Given the description of an element on the screen output the (x, y) to click on. 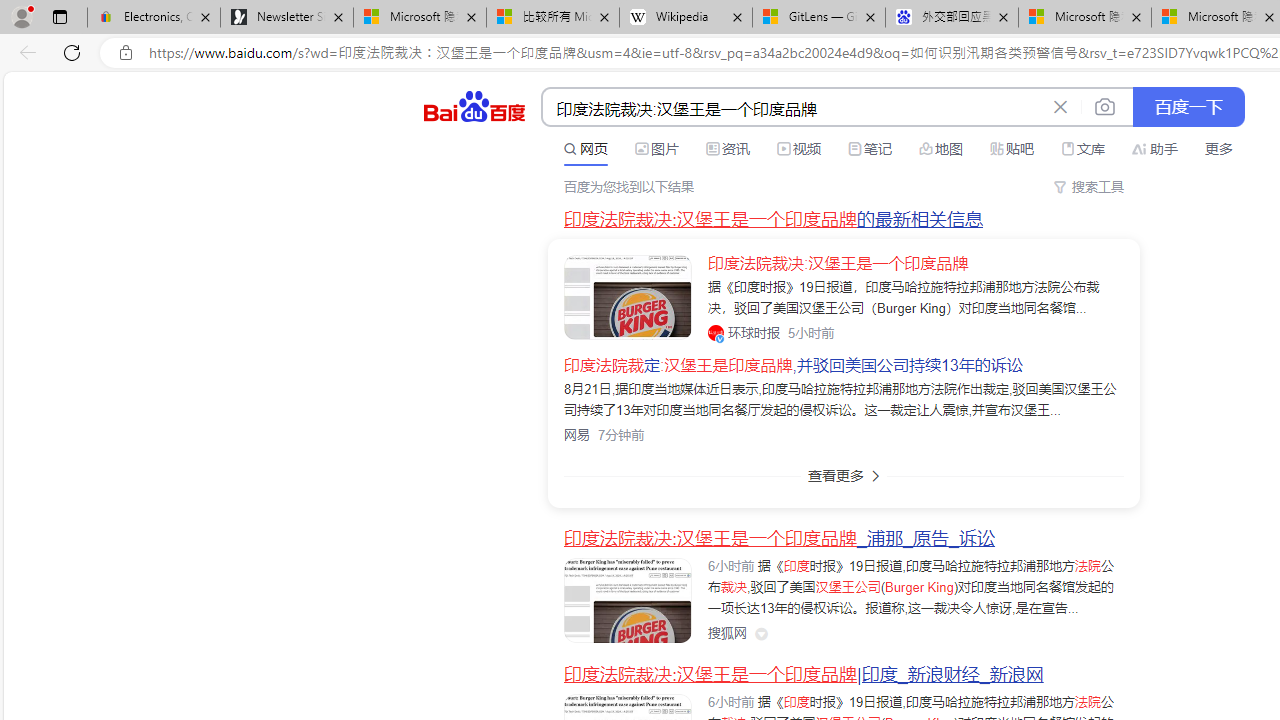
Class: c-img c-img-radius-large (628, 296)
